Given the description of an element on the screen output the (x, y) to click on. 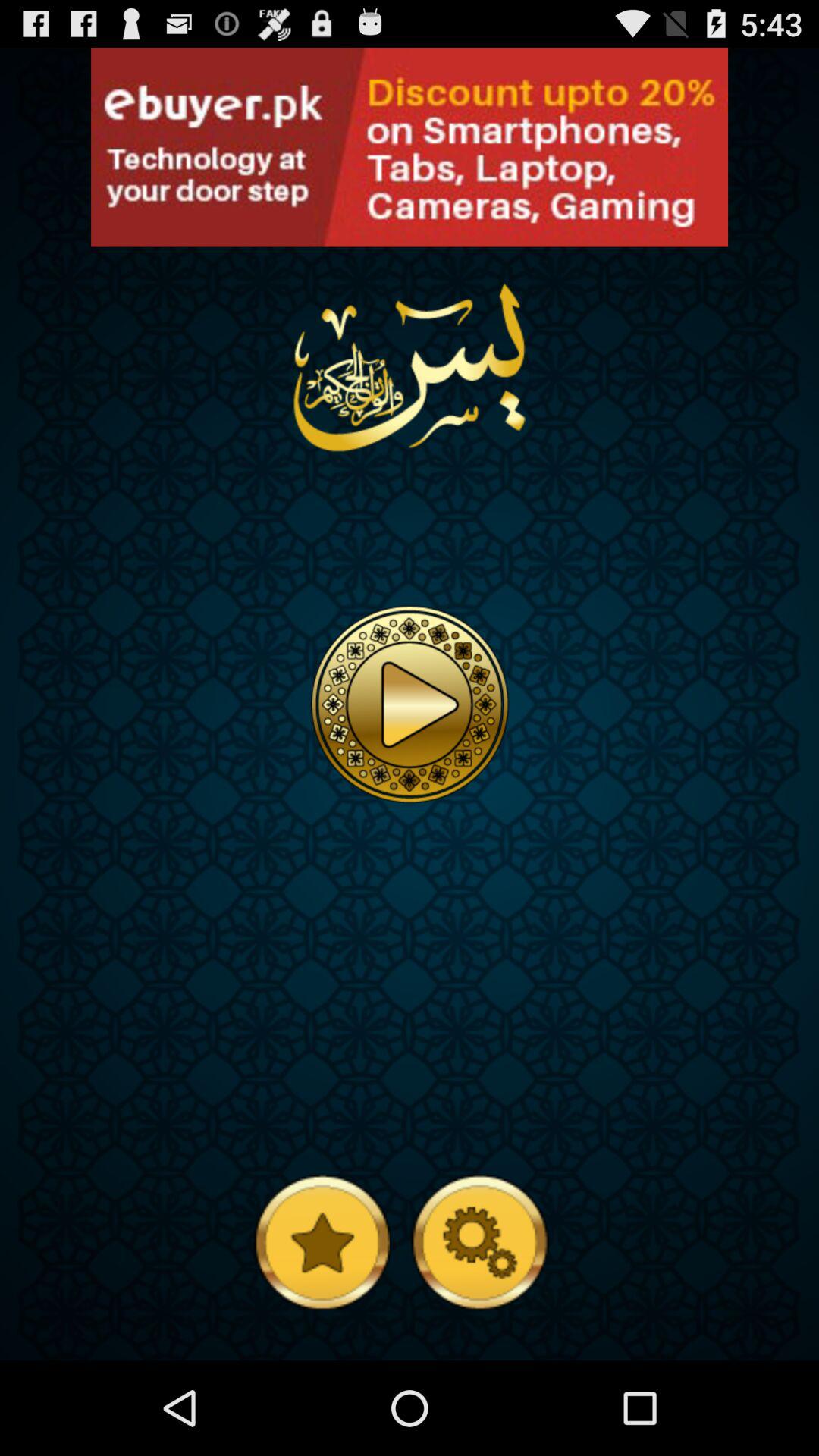
open advertisement (409, 146)
